Given the description of an element on the screen output the (x, y) to click on. 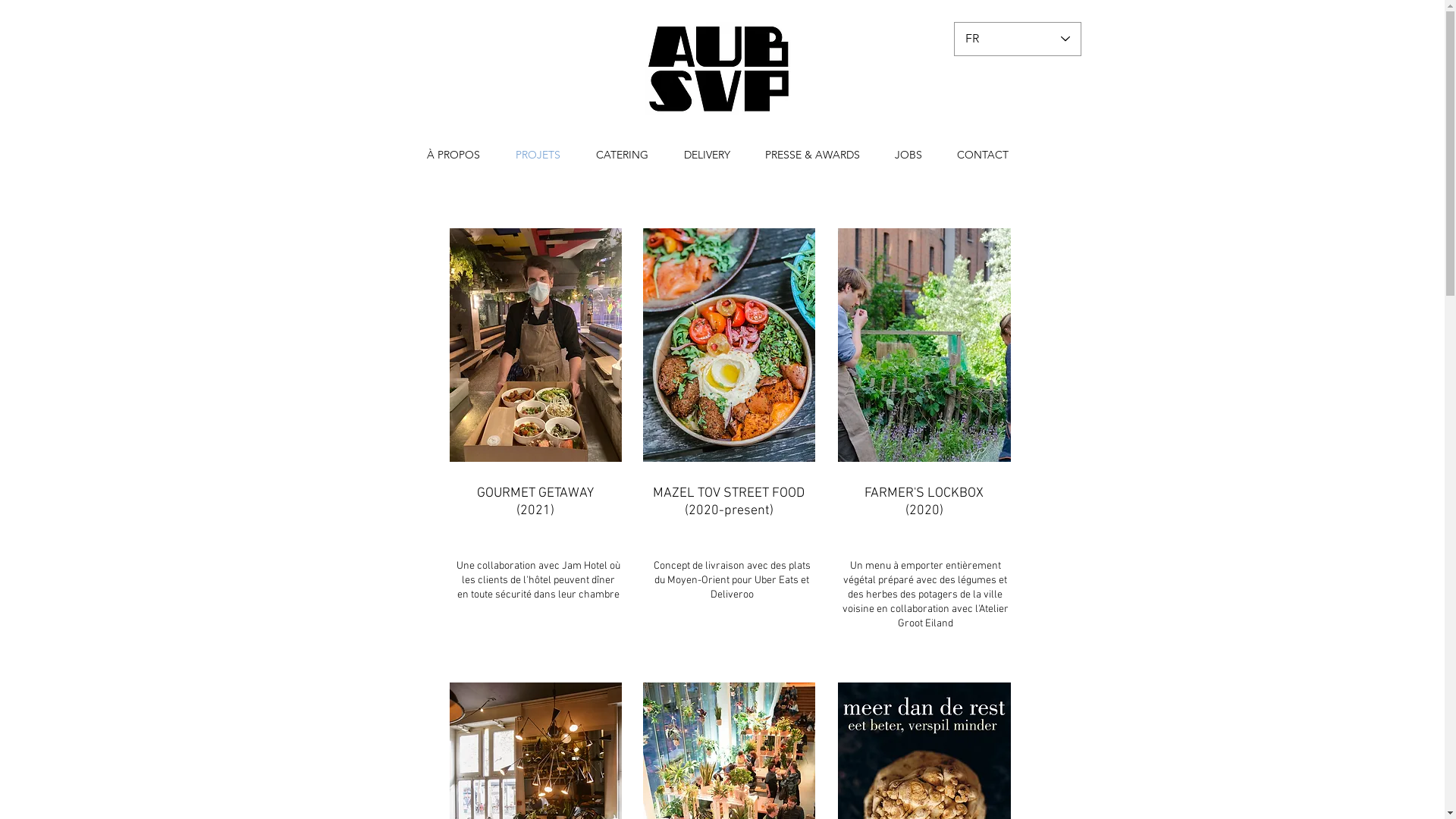
PROJETS Element type: text (537, 154)
JOBS Element type: text (907, 154)
PRESSE & AWARDS Element type: text (812, 154)
DELIVERY Element type: text (705, 154)
CONTACT Element type: text (981, 154)
CATERING Element type: text (621, 154)
